Given the description of an element on the screen output the (x, y) to click on. 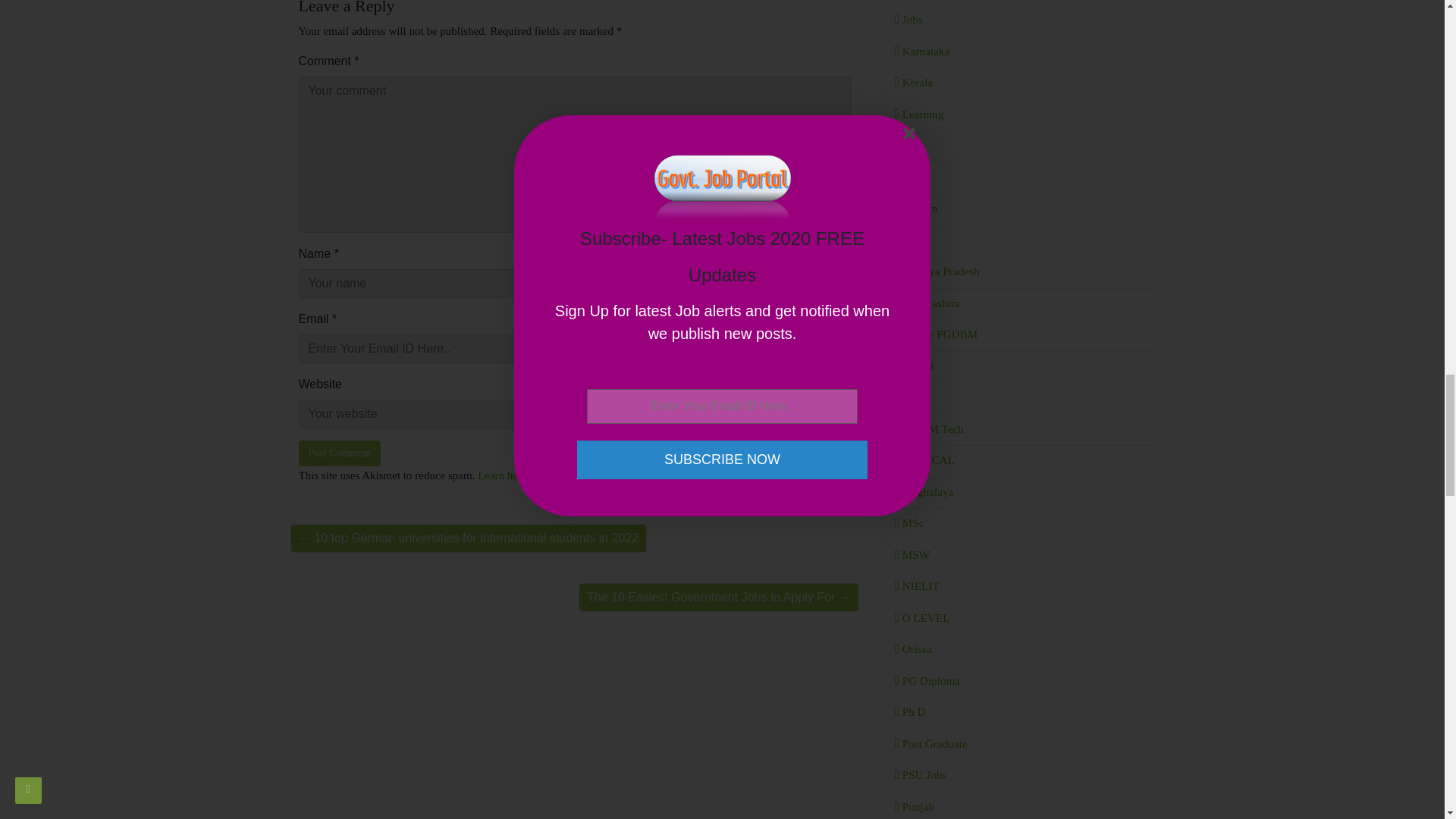
Post Comment (339, 453)
